Given the description of an element on the screen output the (x, y) to click on. 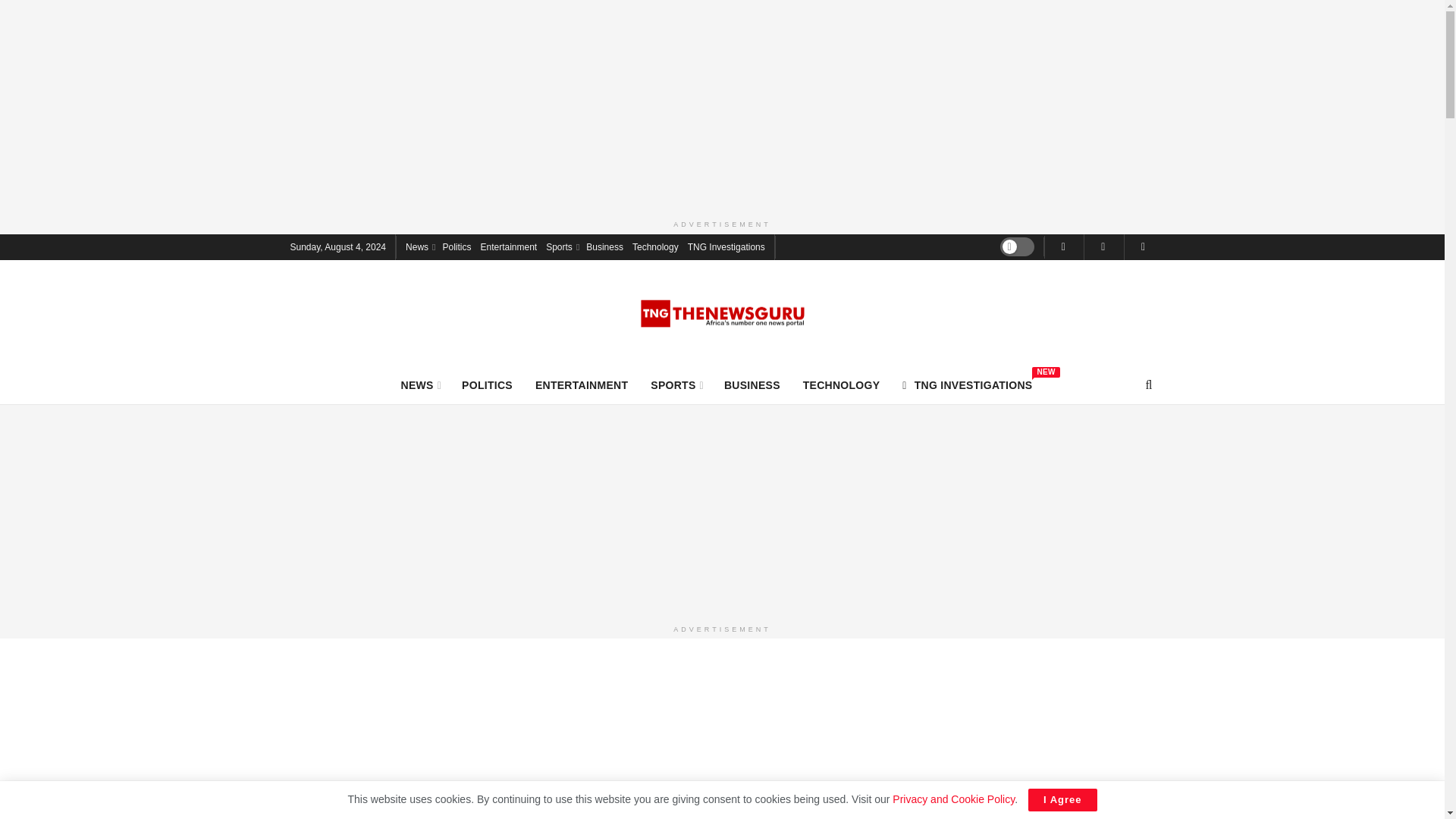
Business (604, 246)
TECHNOLOGY (841, 384)
News (419, 246)
Technology (654, 246)
Sports (561, 246)
Entertainment (967, 384)
ENTERTAINMENT (508, 246)
BUSINESS (581, 384)
SPORTS (751, 384)
POLITICS (675, 384)
Advertisement (486, 384)
